Given the description of an element on the screen output the (x, y) to click on. 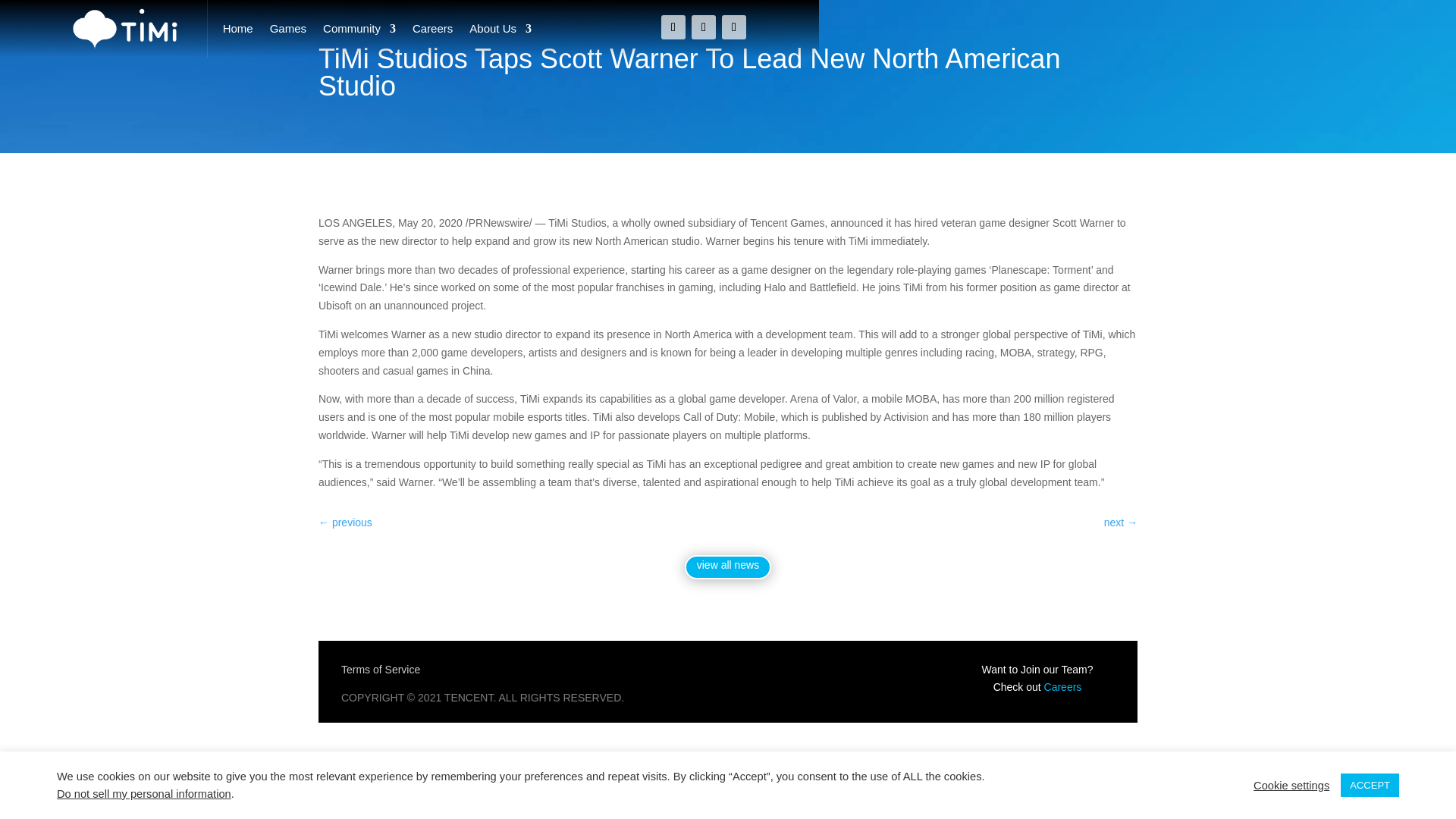
Terms of Service (380, 669)
Follow on Twitter (673, 27)
About Us (499, 28)
Follow on Facebook (703, 27)
Careers (1062, 686)
view all news (727, 567)
Community (359, 28)
Follow on LinkedIn (733, 27)
